Given the description of an element on the screen output the (x, y) to click on. 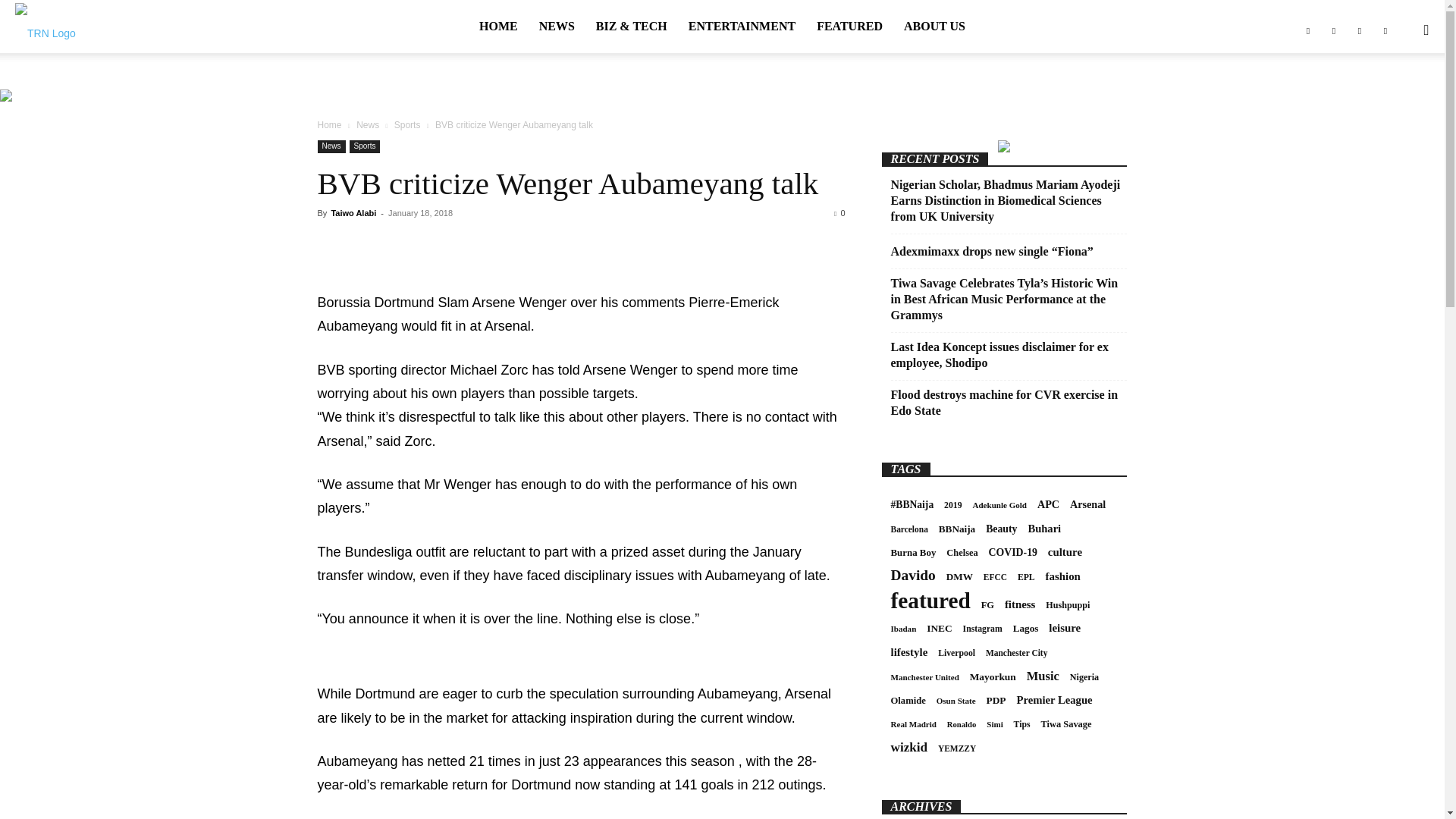
TRN (44, 30)
The Regular News (44, 30)
Search (1395, 102)
